Given the description of an element on the screen output the (x, y) to click on. 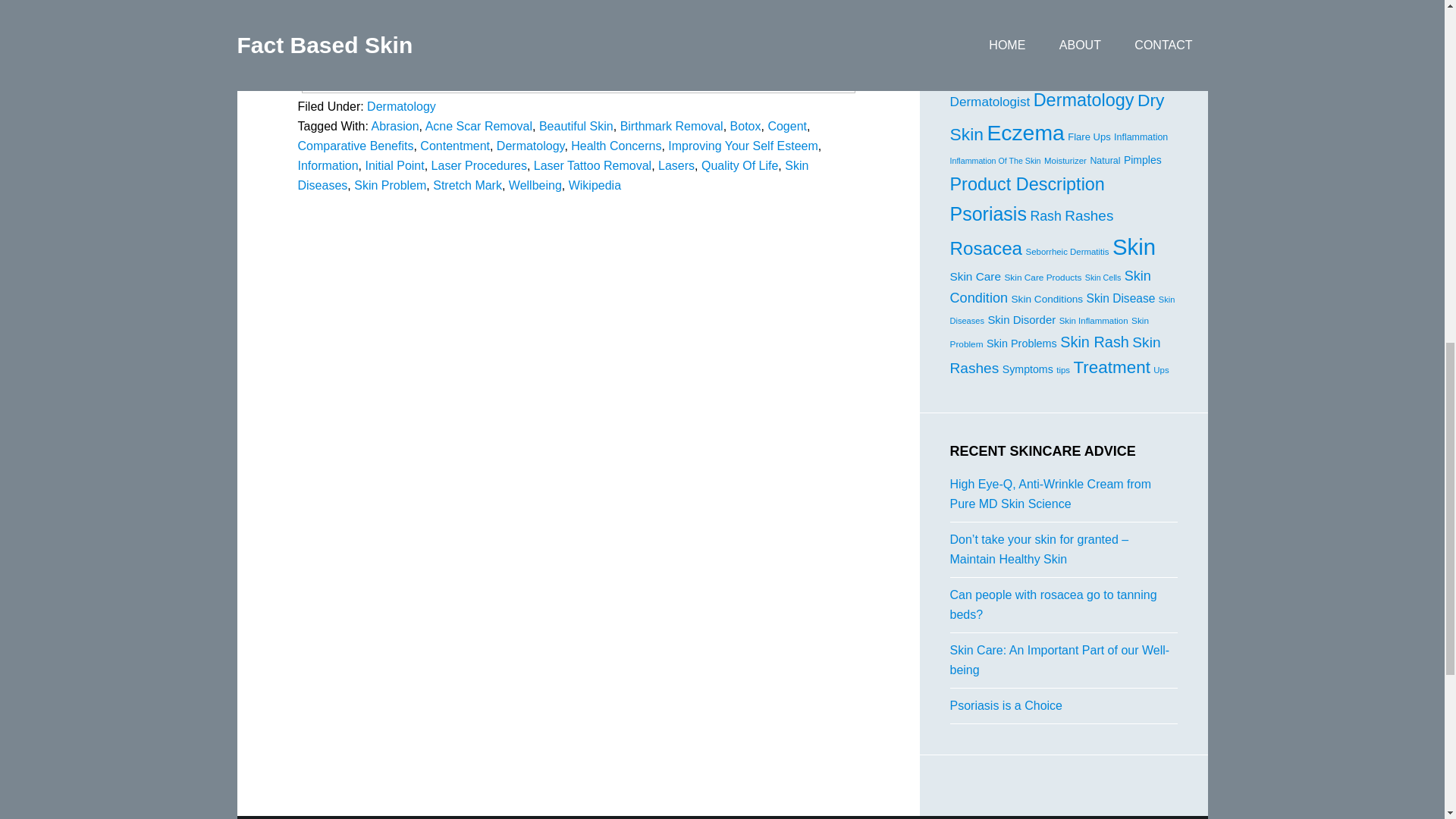
Contentment (454, 145)
Care (1049, 48)
Best (1025, 48)
Acne Scar Removal (478, 125)
Birthmark Removal (671, 125)
Beautiful Skin (575, 125)
Wikipedia (322, 49)
Information (327, 164)
botox injection los angeles (349, 36)
laser tattoo removal (338, 60)
